Given the description of an element on the screen output the (x, y) to click on. 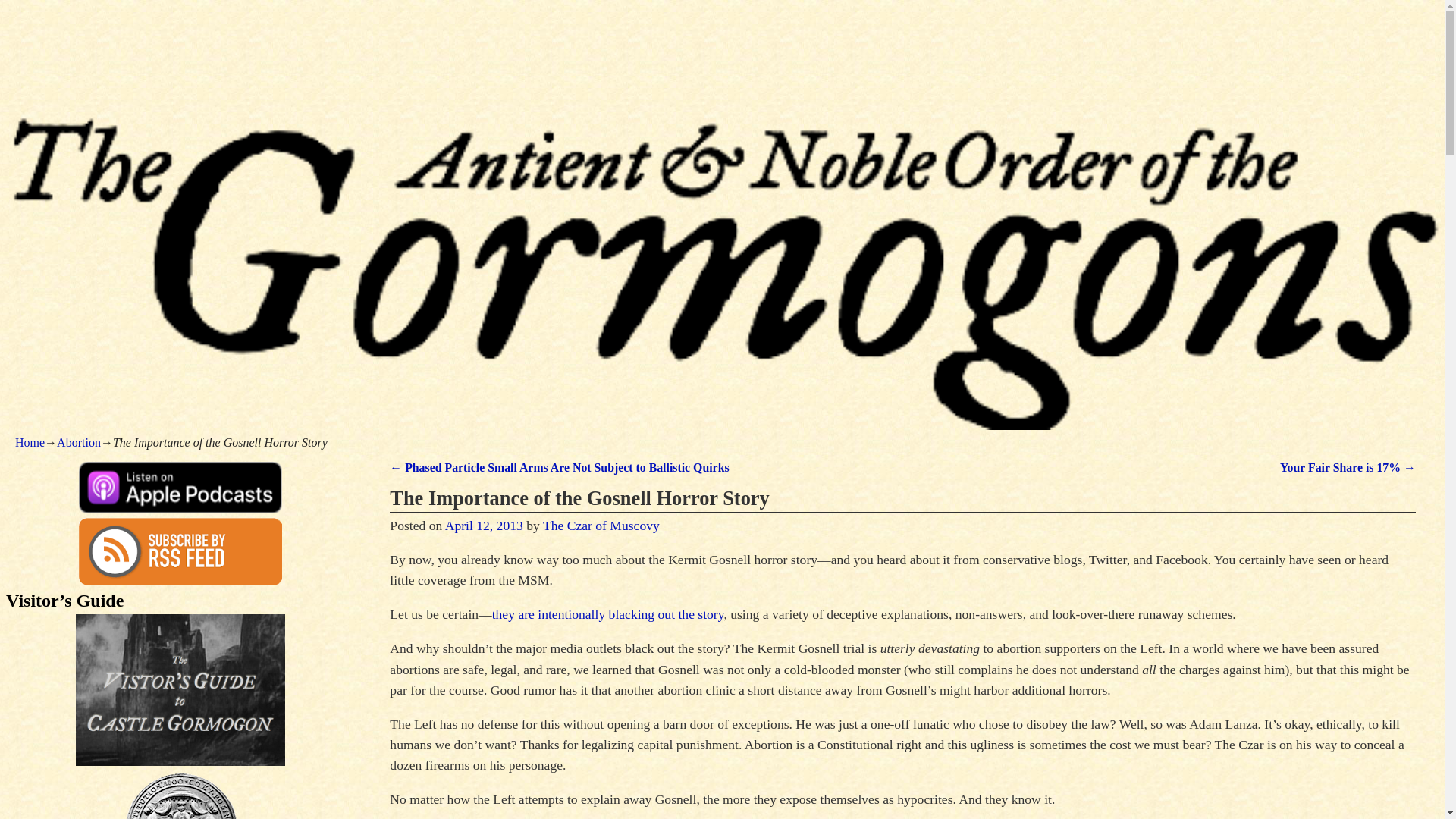
they are intentionally blacking out the story (607, 613)
April 12, 2013 (483, 525)
Home (29, 441)
2:45 pm (483, 525)
Abortion (78, 441)
The Czar of Muscovy (601, 525)
View all posts by The Czar of Muscovy (601, 525)
